Given the description of an element on the screen output the (x, y) to click on. 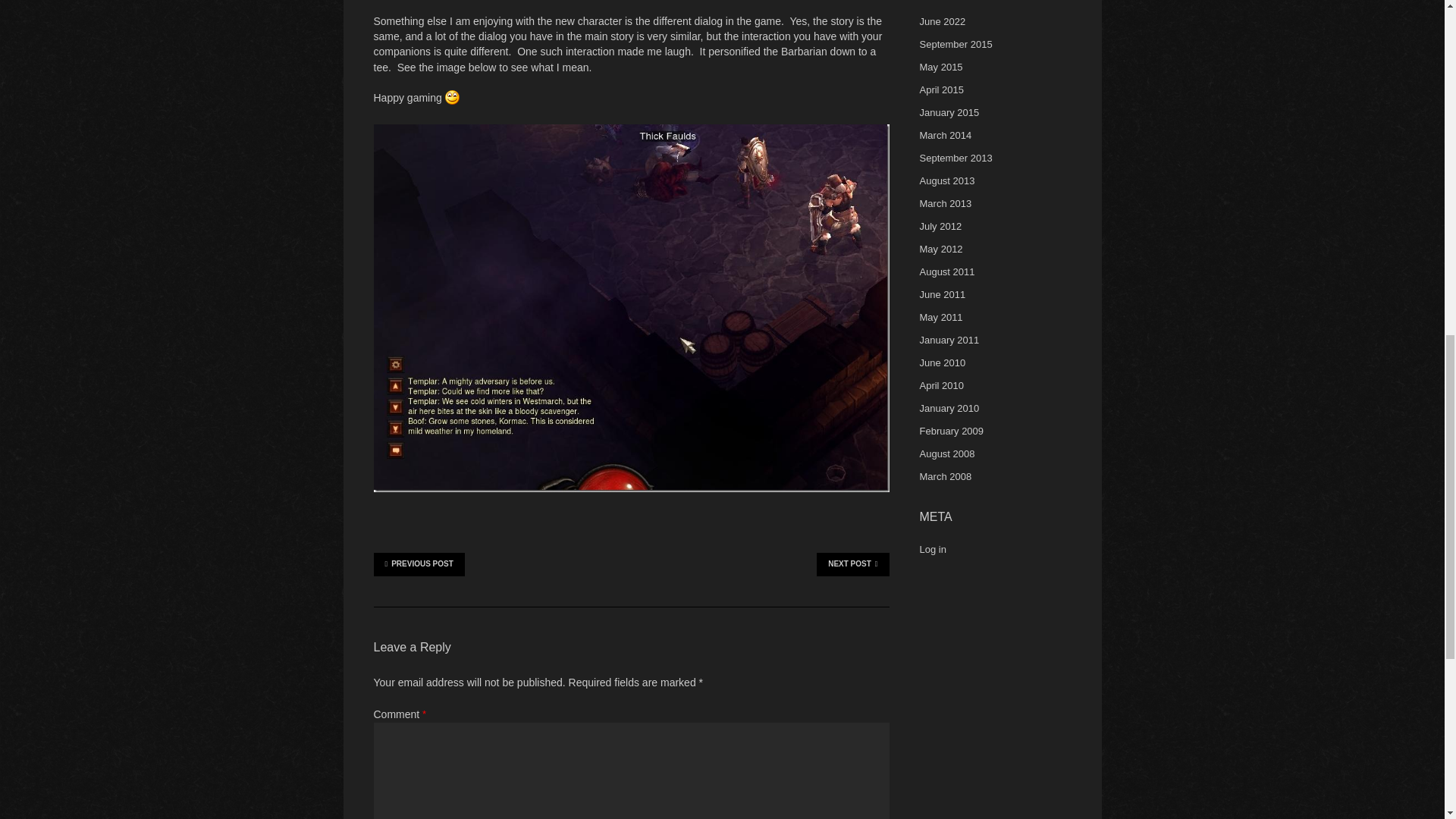
PREVIOUS POST (418, 563)
NEXT POST (852, 563)
June 2022 (941, 21)
April 2015 (940, 89)
September 2015 (954, 43)
March 2014 (944, 134)
August 2013 (946, 180)
January 2015 (948, 112)
May 2015 (940, 66)
September 2013 (954, 157)
